Given the description of an element on the screen output the (x, y) to click on. 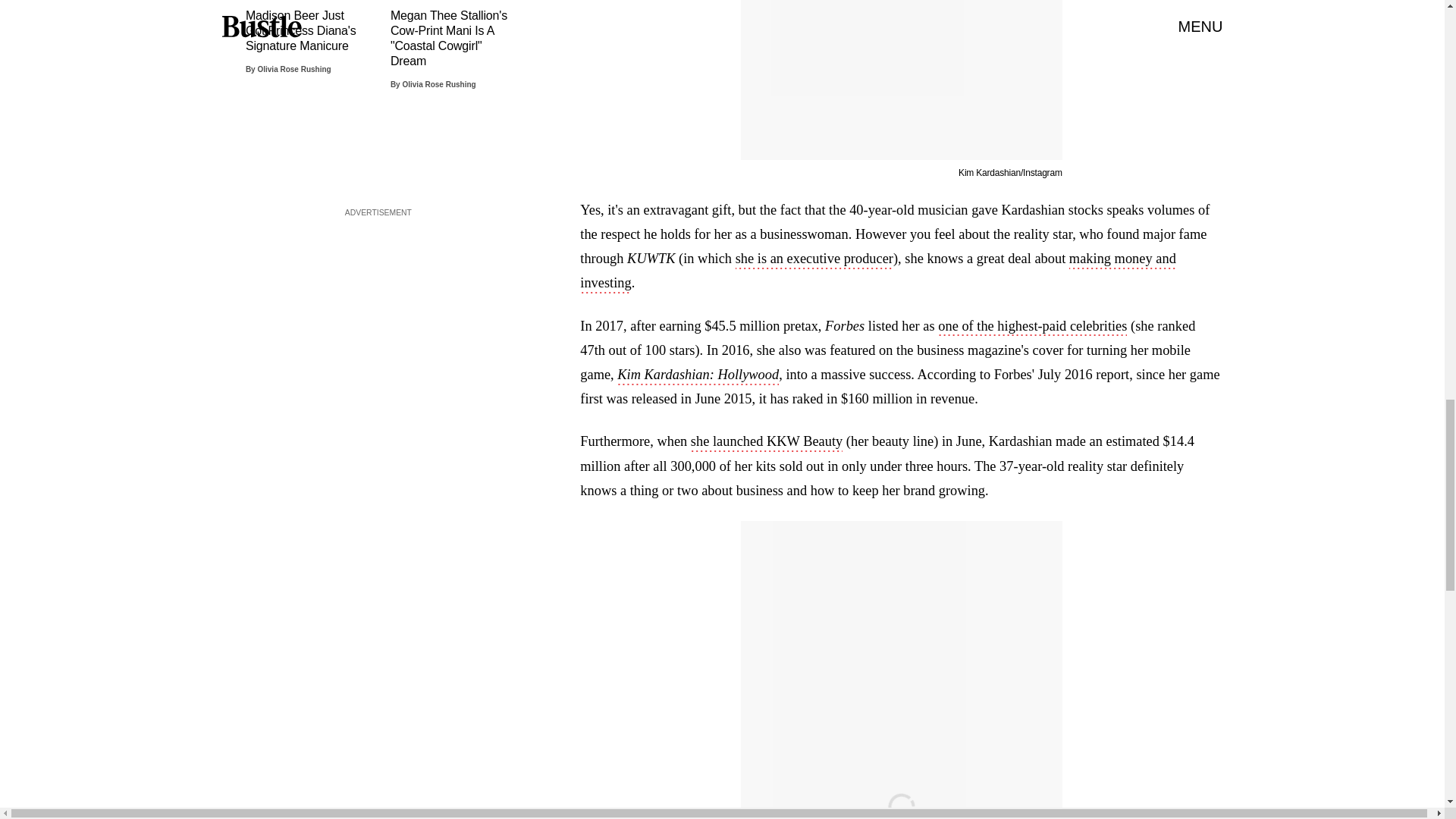
making money and investing (877, 271)
she launched KKW Beauty (766, 443)
one of the highest-paid celebrities (1031, 327)
she is an executive producer (814, 259)
Kim Kardashian: Hollywood (697, 375)
